Given the description of an element on the screen output the (x, y) to click on. 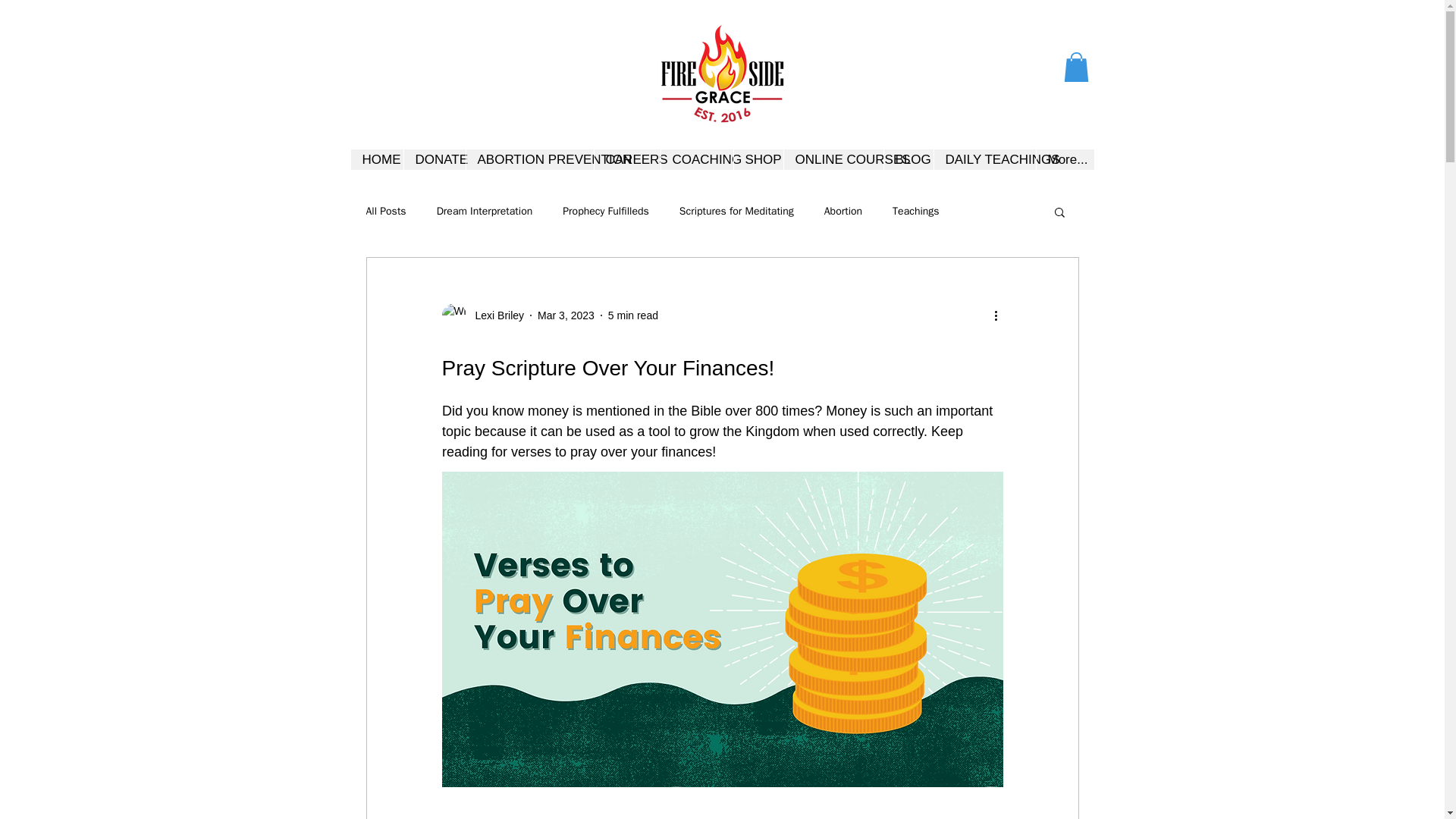
COACHING (695, 159)
Scriptures for Meditating (736, 211)
DAILY TEACHINGS (984, 159)
ONLINE COURSES (832, 159)
Abortion (842, 211)
DONATE (434, 159)
Dream Interpretation (484, 211)
Mar 3, 2023 (565, 315)
All Posts (385, 211)
5 min read (633, 315)
Teachings (915, 211)
ABORTION PREVENTION (529, 159)
Lexi Briley (482, 315)
Prophecy Fulfilleds (605, 211)
Lexi Briley (494, 315)
